Given the description of an element on the screen output the (x, y) to click on. 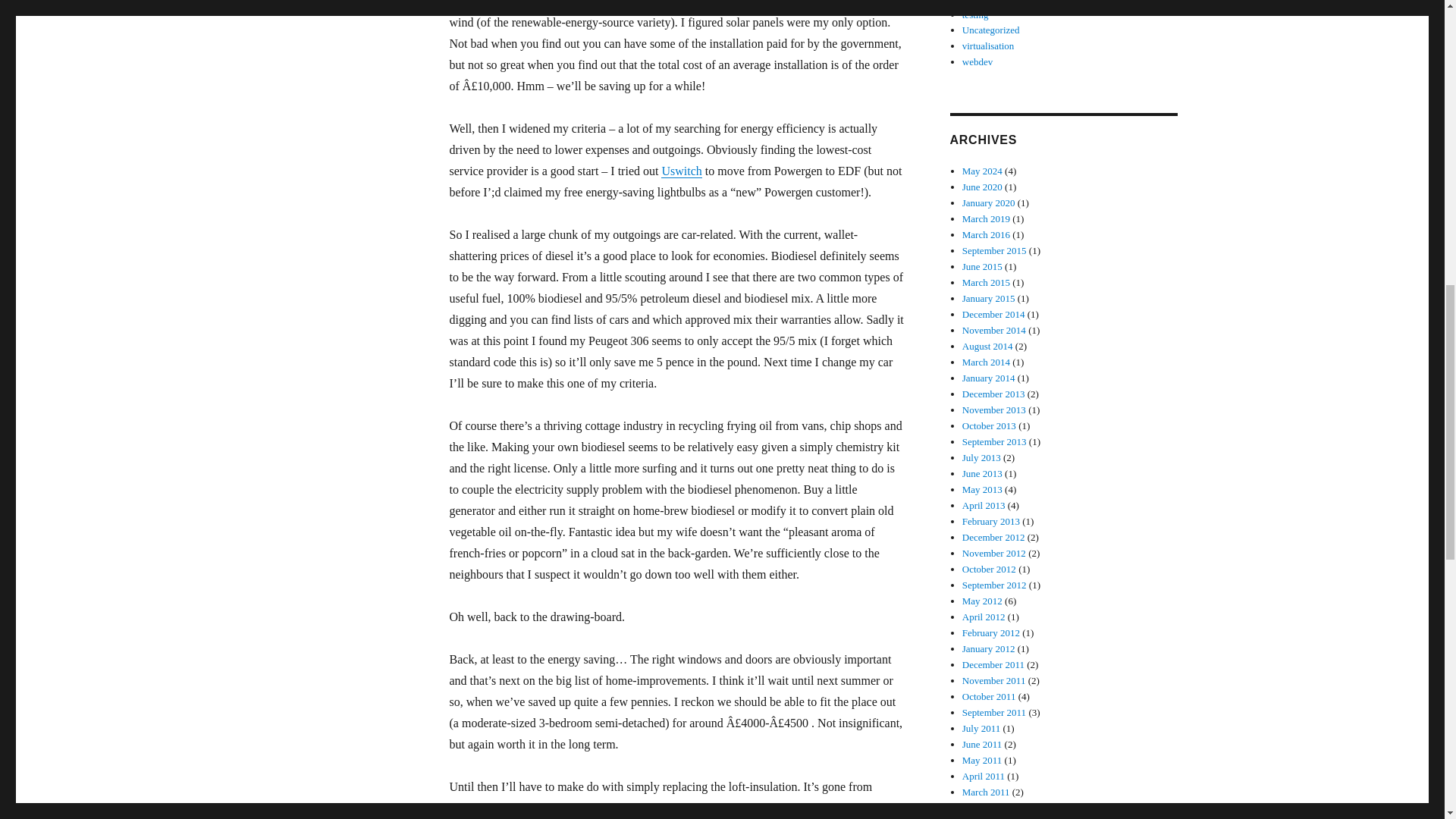
testing (975, 14)
sysadmin (980, 2)
Uswitch (681, 170)
